Given the description of an element on the screen output the (x, y) to click on. 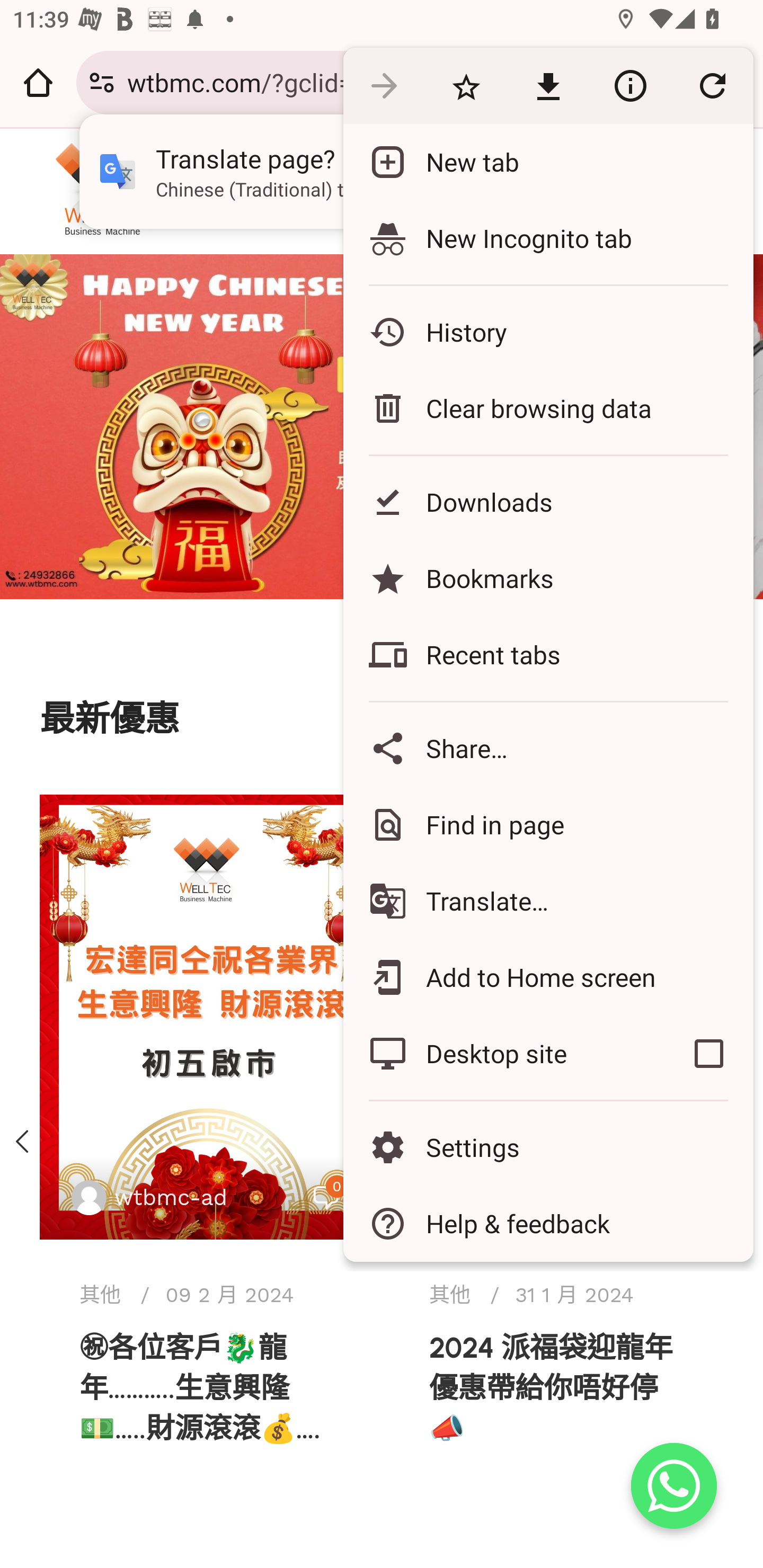
Forward (383, 85)
Bookmark (465, 85)
Download (548, 85)
Page info (630, 85)
Stop refreshing (712, 85)
New tab (548, 161)
New Incognito tab (548, 237)
History (548, 332)
Clear browsing data (548, 408)
Downloads (548, 502)
Bookmarks (548, 578)
Recent tabs (548, 654)
Share… (548, 748)
Find in page (548, 824)
Translate… (548, 900)
Add to Home screen (548, 977)
Desktop site Turn on Request desktop site (503, 1053)
Settings (548, 1146)
Help & feedback (548, 1223)
